Given the description of an element on the screen output the (x, y) to click on. 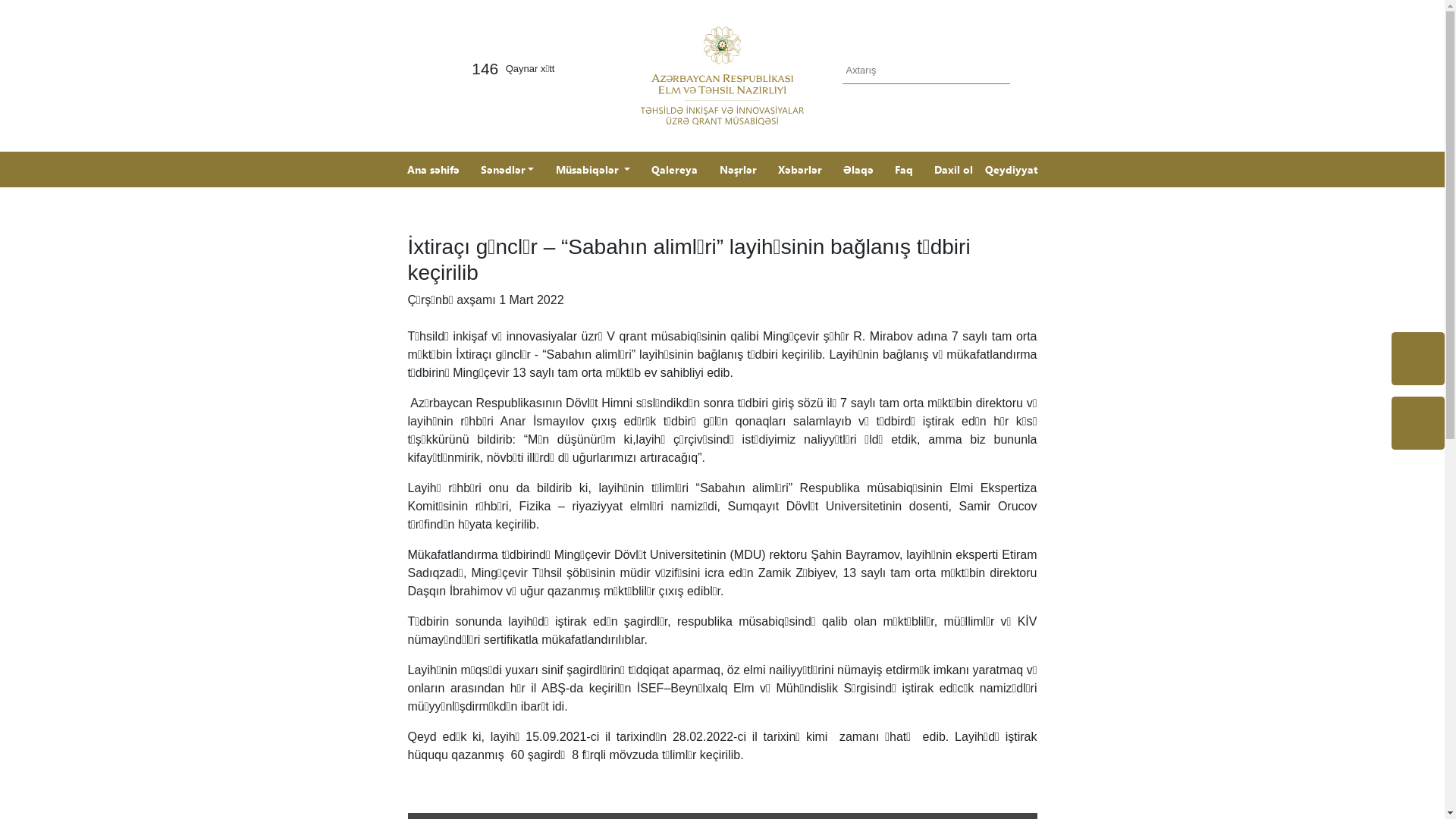
Faq Element type: text (903, 169)
Daxil ol Element type: text (953, 169)
Qalereya Element type: text (674, 169)
Qeydiyyat Element type: text (1011, 169)
